Given the description of an element on the screen output the (x, y) to click on. 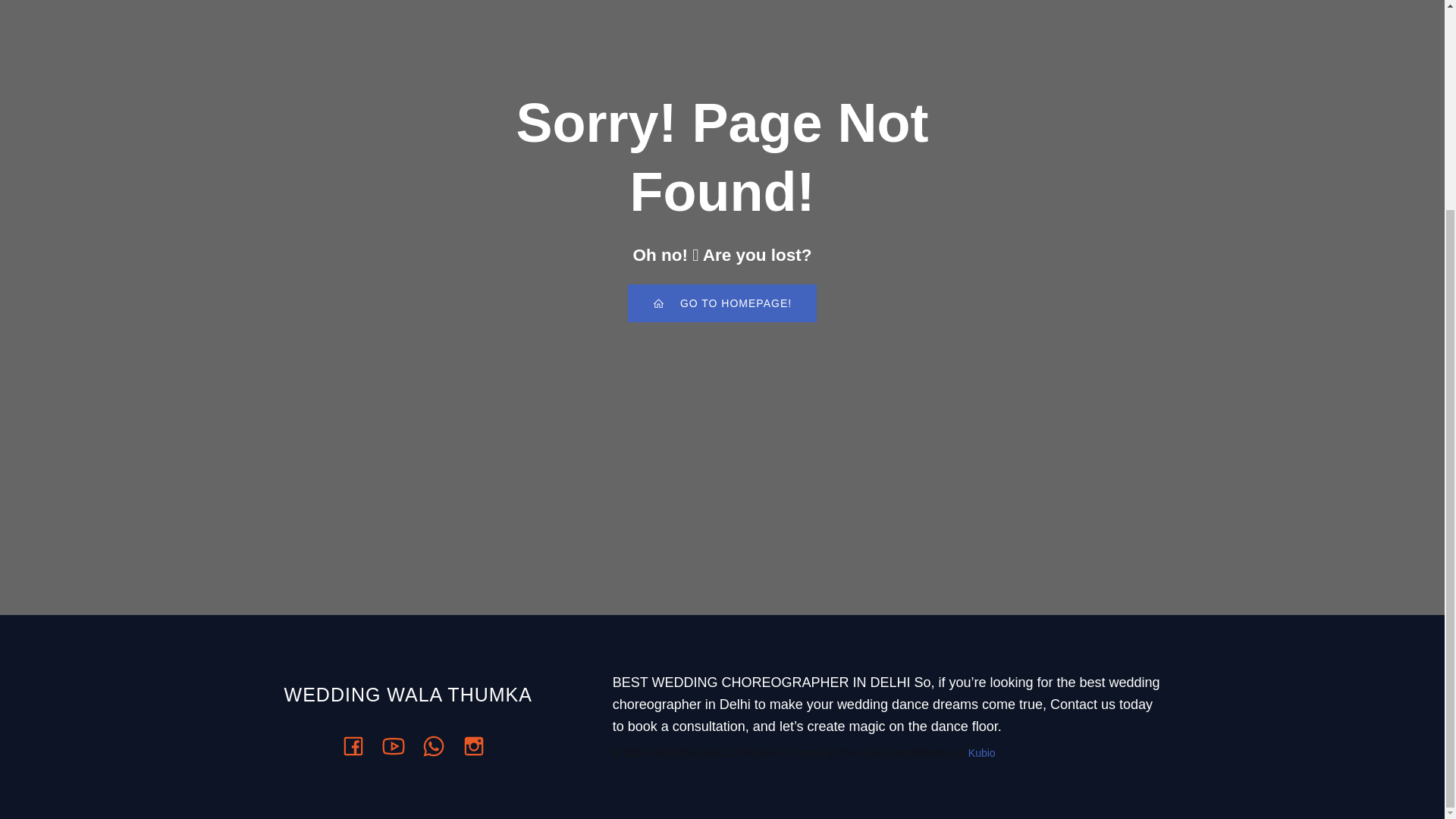
GO TO HOMEPAGE! (721, 303)
Kubio (981, 752)
WEDDING WALA THUMKA (418, 694)
